Given the description of an element on the screen output the (x, y) to click on. 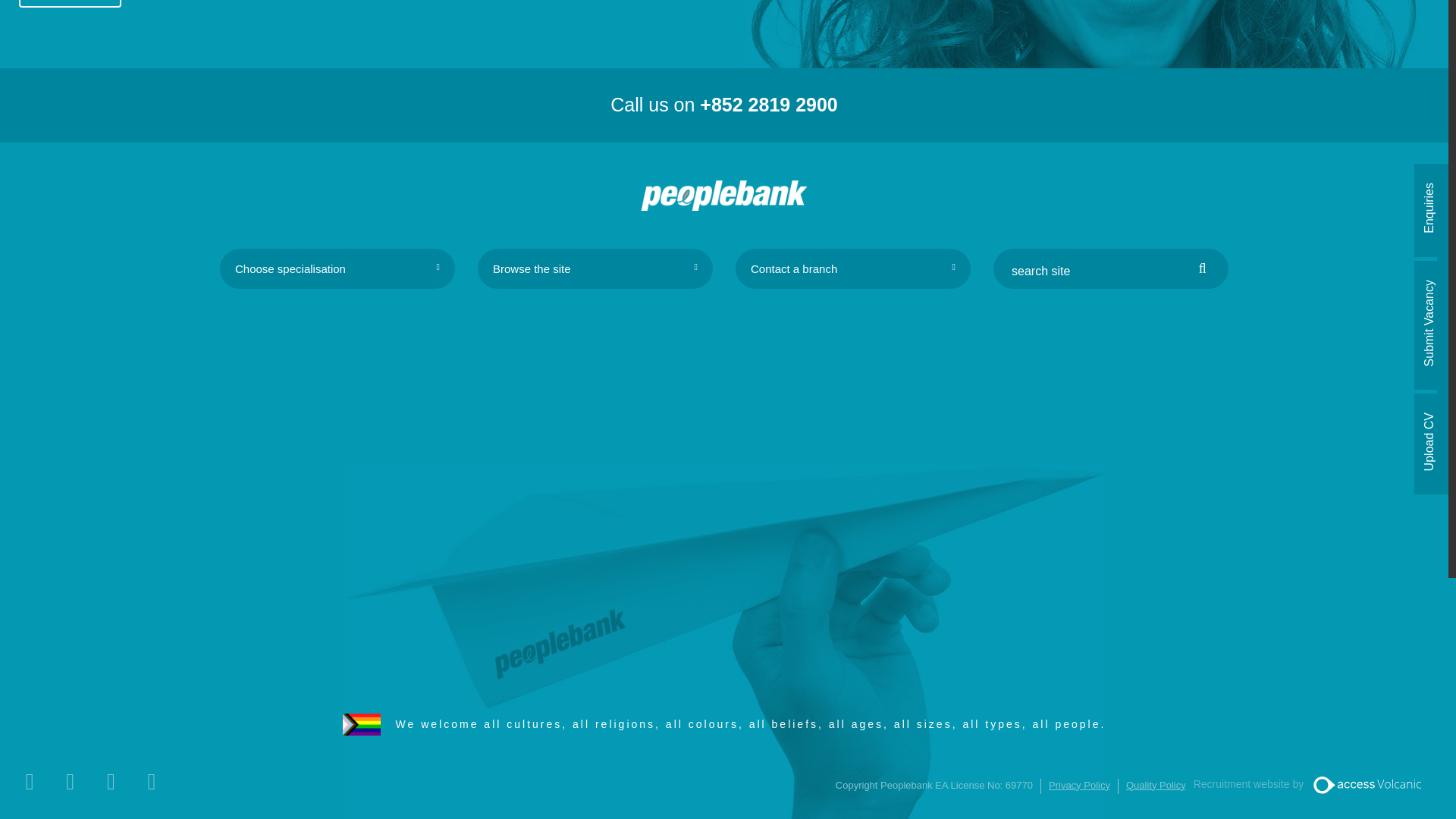
Go to the Homepage (724, 195)
